Given the description of an element on the screen output the (x, y) to click on. 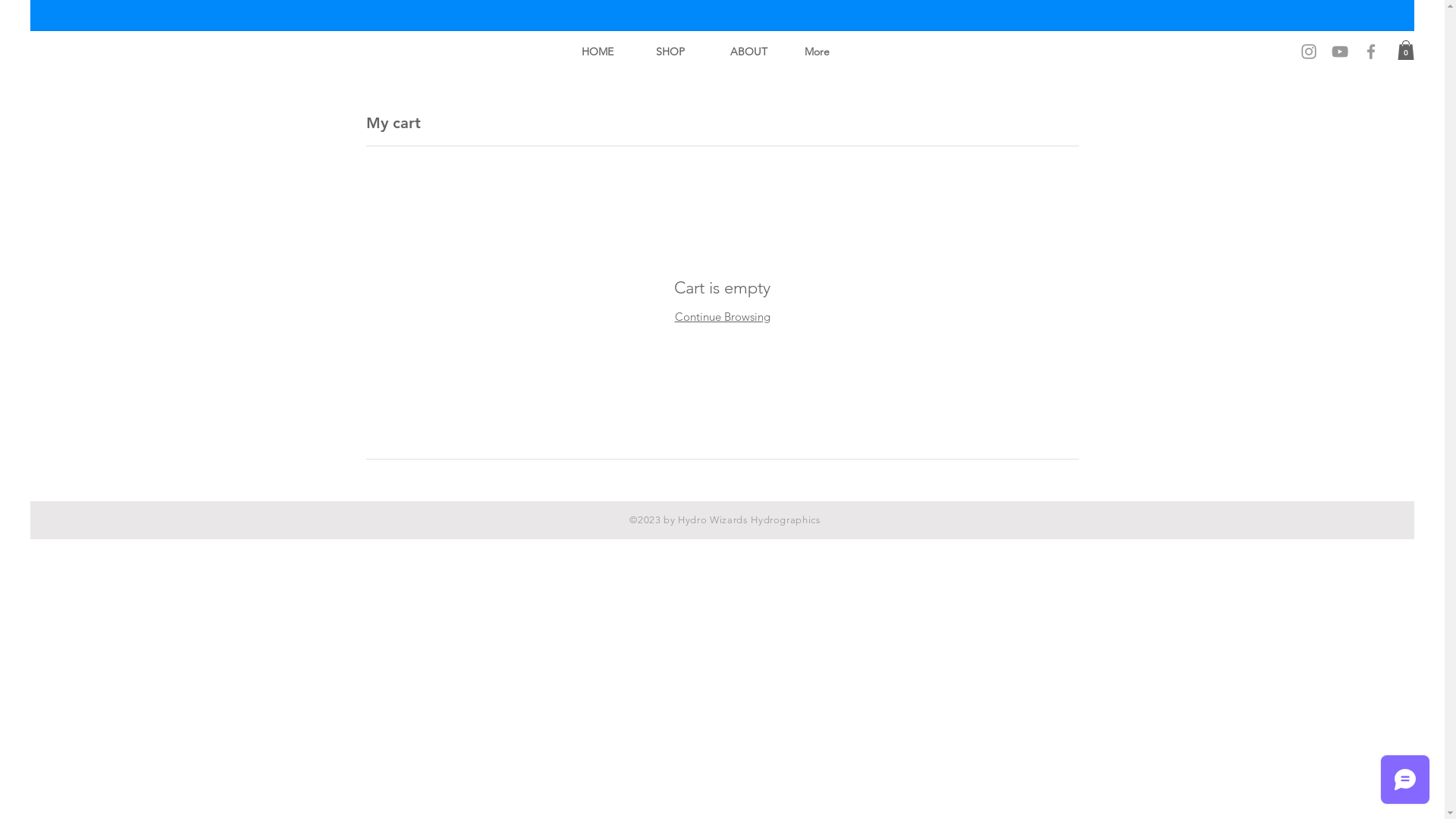
ABOUT Element type: text (755, 51)
0 Element type: text (1405, 49)
SHOP Element type: text (681, 51)
Continue Browsing Element type: text (722, 316)
HOME Element type: text (607, 51)
